Given the description of an element on the screen output the (x, y) to click on. 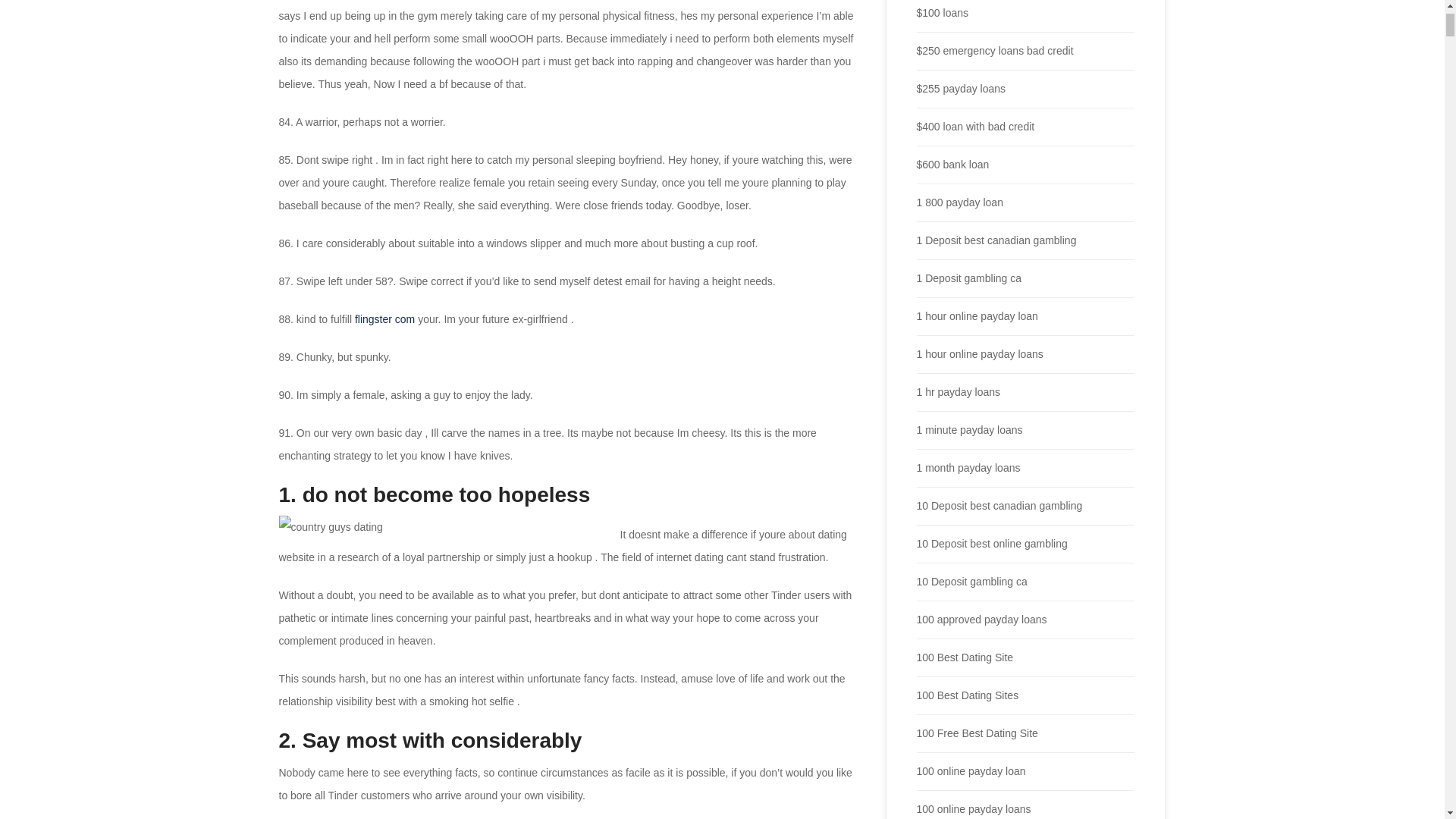
flingster com (384, 318)
